Given the description of an element on the screen output the (x, y) to click on. 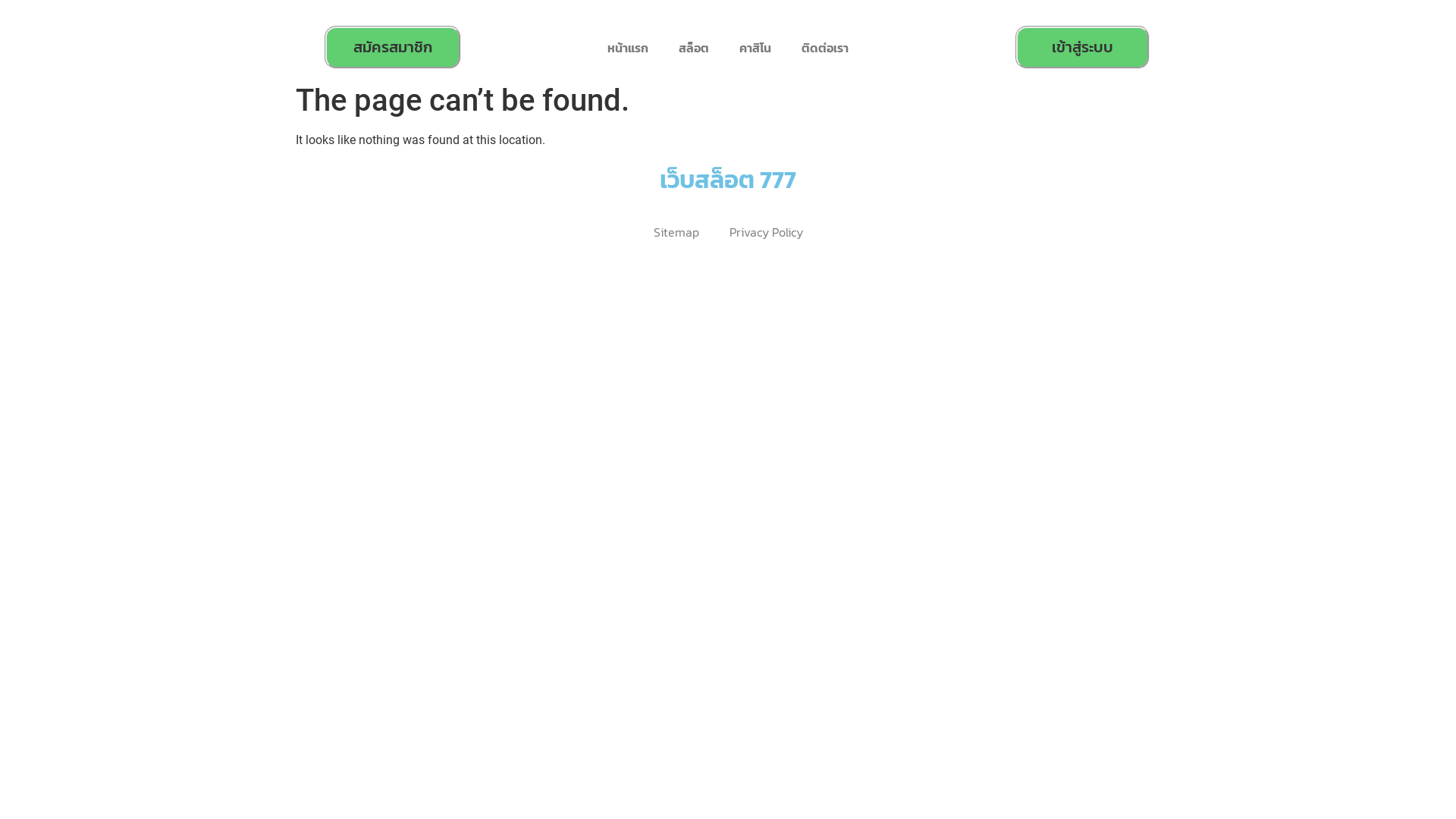
Sitemap Element type: text (676, 232)
Privacy Policy Element type: text (766, 232)
